Given the description of an element on the screen output the (x, y) to click on. 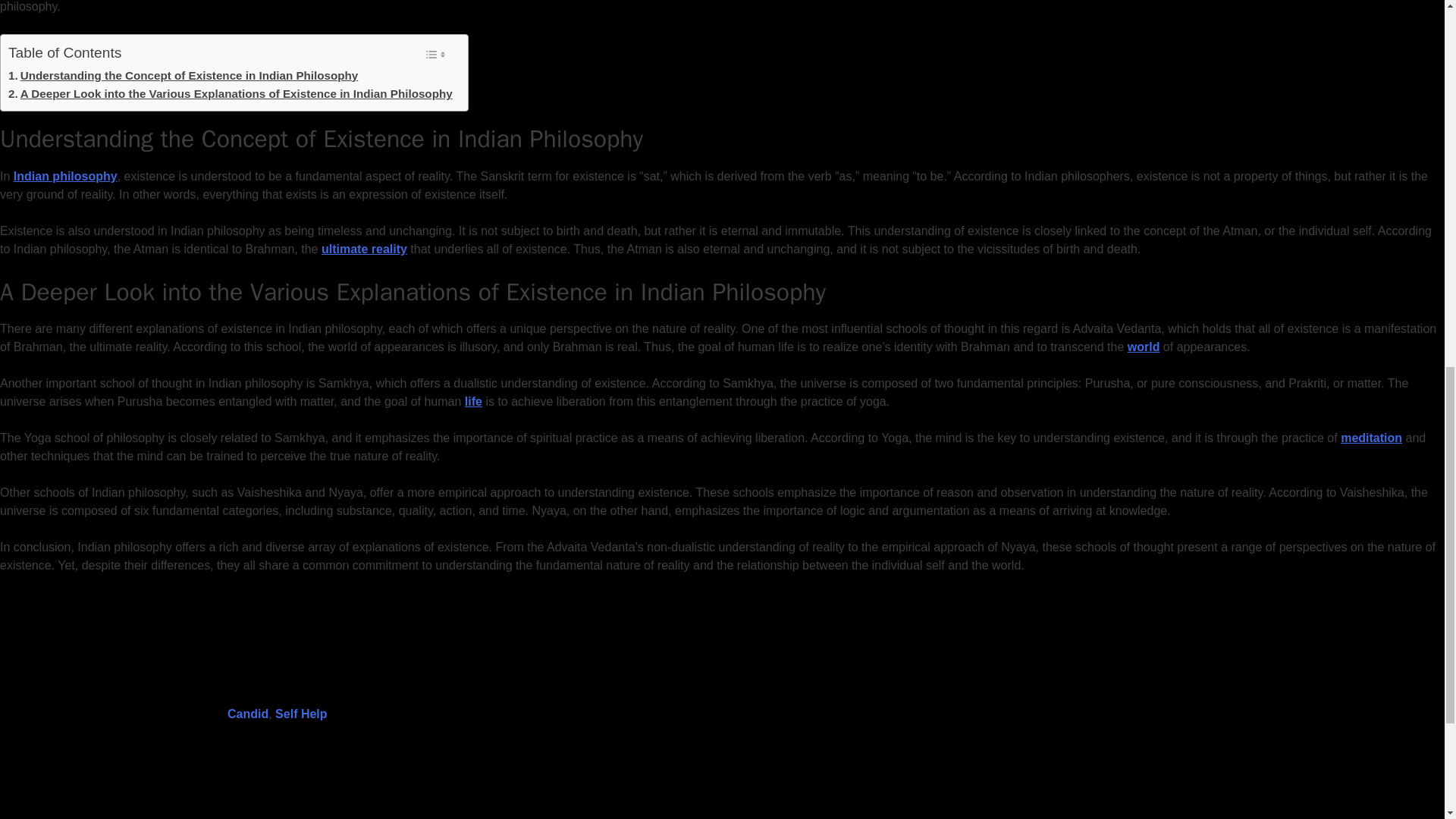
Candid (247, 713)
world (1143, 346)
ultimate reality (364, 248)
meditation (1371, 437)
Indian philosophy (65, 175)
life (472, 400)
Understanding the Concept of Existence in Indian Philosophy (183, 75)
Self Help (300, 713)
Understanding the Concept of Existence in Indian Philosophy (183, 75)
